Given the description of an element on the screen output the (x, y) to click on. 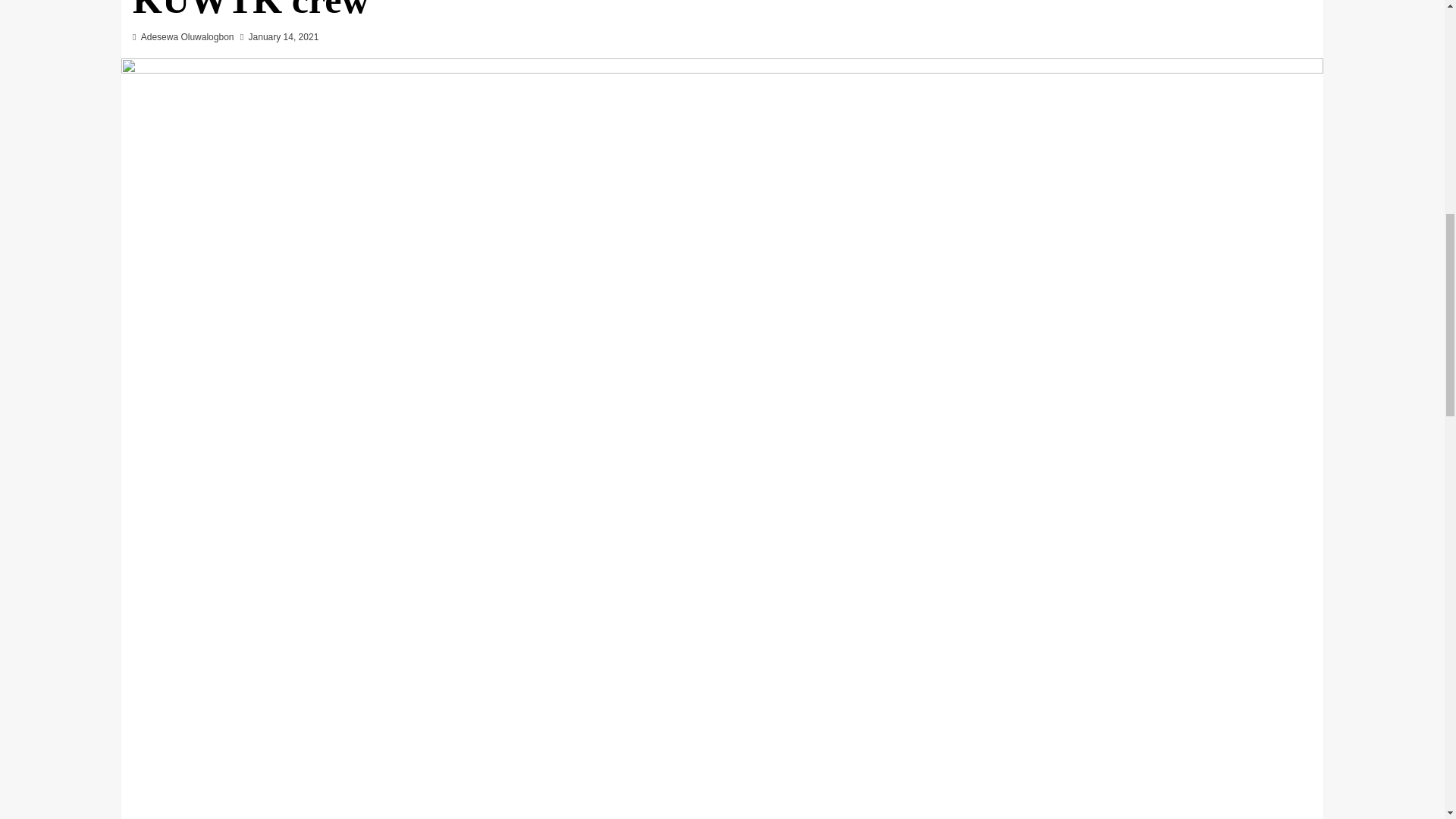
January 14, 2021 (283, 36)
Adesewa Oluwalogbon (187, 36)
